Given the description of an element on the screen output the (x, y) to click on. 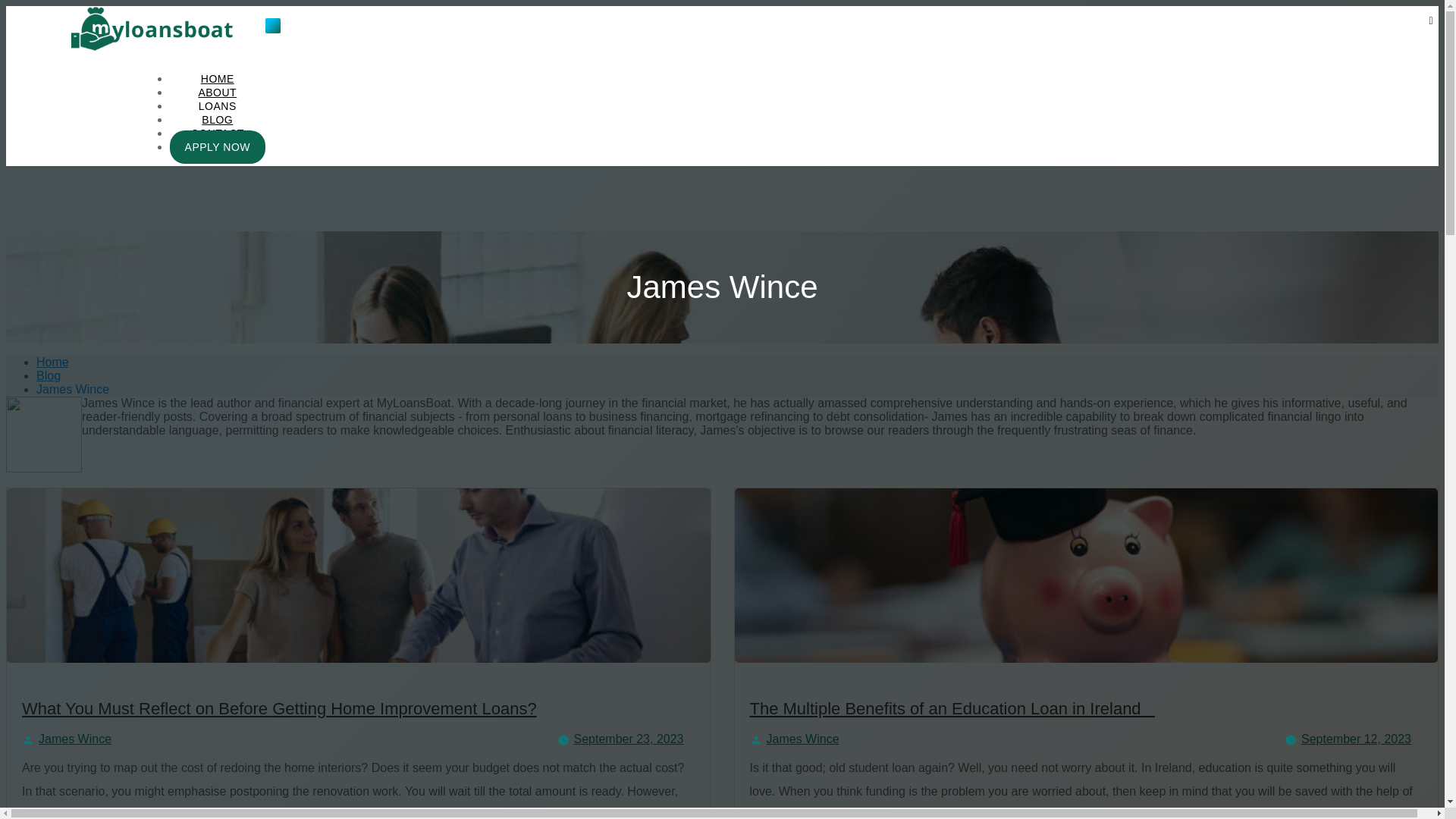
James Wince (75, 738)
James Wince (72, 389)
HOME (217, 78)
Home (52, 361)
BLOG (216, 119)
Blog (48, 375)
LOANS (217, 105)
ABOUT (217, 92)
Toggle navigation (272, 25)
The Multiple Benefits of an Education Loan in Ireland    (951, 708)
September 12, 2023 (1355, 739)
APPLY NOW (217, 146)
September 23, 2023 (627, 739)
CONTACT (217, 133)
